Given the description of an element on the screen output the (x, y) to click on. 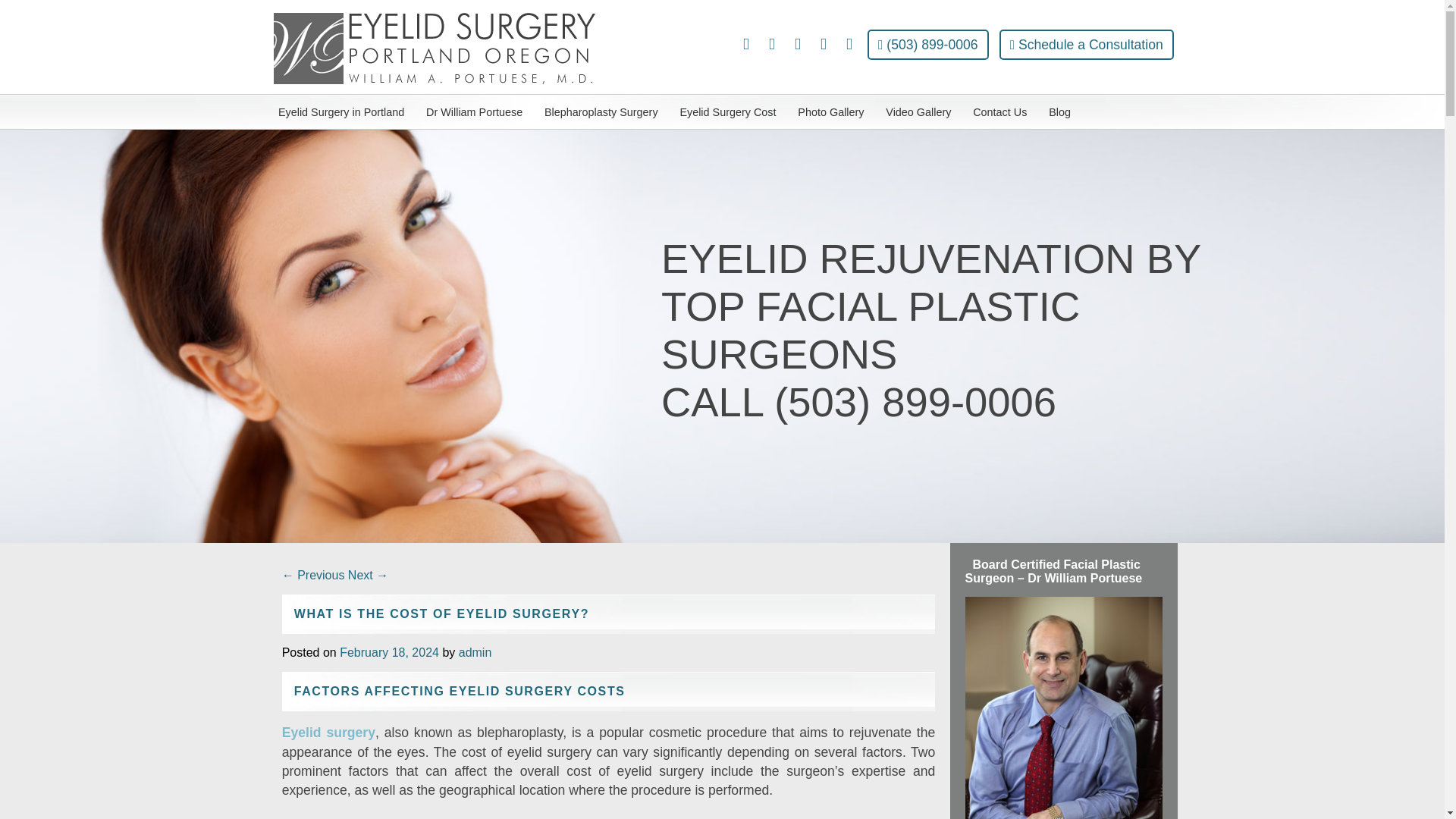
Photo Gallery (831, 112)
View all posts by admin (475, 652)
Blepharoplasty Surgery (601, 112)
Video Gallery (918, 112)
Contact Us (1000, 112)
Eyelid Surgery Cost (727, 112)
Dr William Portuese (474, 112)
3:22 pm (389, 652)
February 18, 2024 (389, 652)
Blog (1059, 112)
admin (475, 652)
Eyelid Surgery in Portland (340, 112)
Eyelid surgery (328, 732)
Schedule a Consultation (1085, 44)
